Given the description of an element on the screen output the (x, y) to click on. 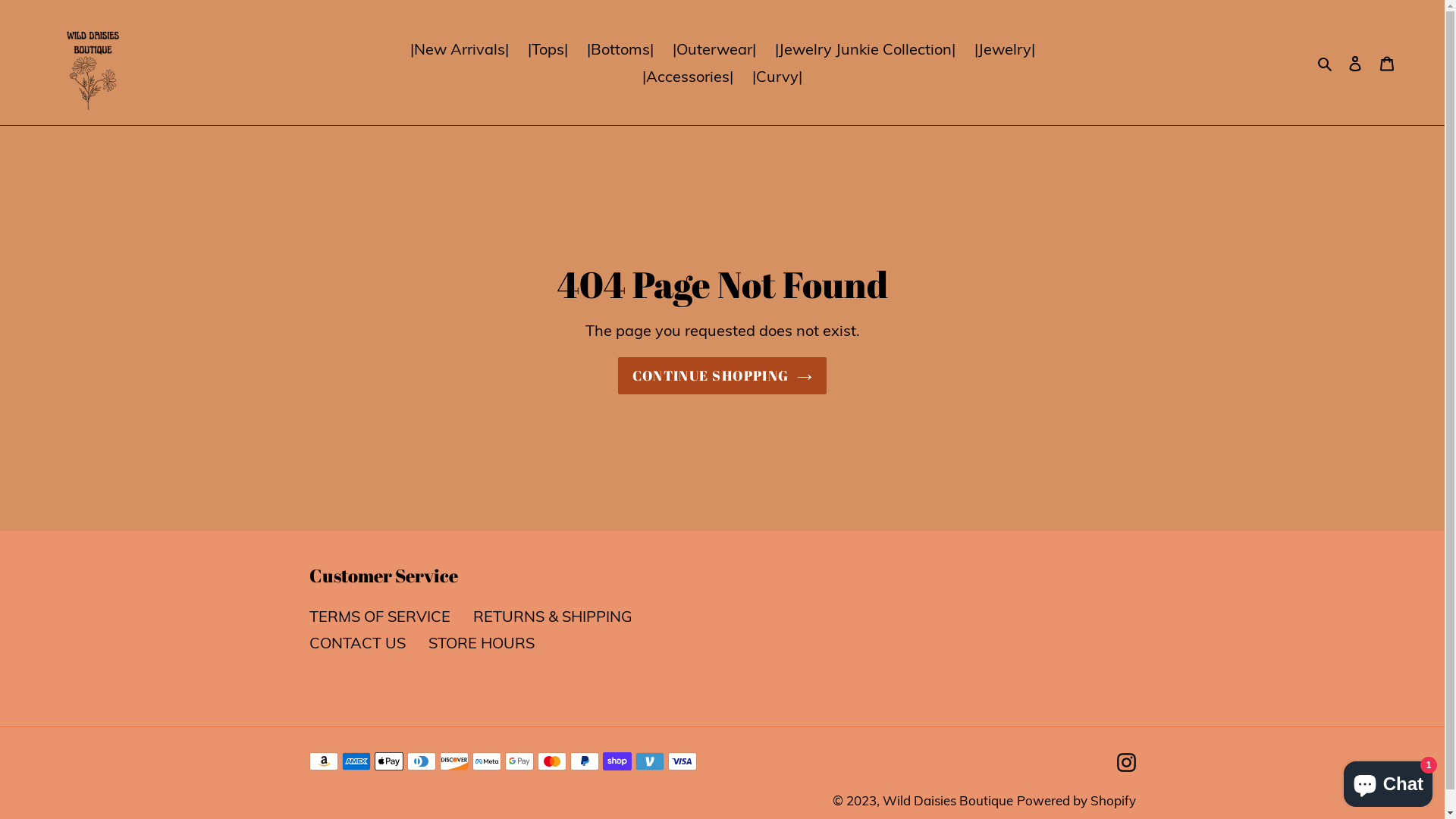
|Jewelry| Element type: text (1003, 48)
Wild Daisies Boutique Element type: text (947, 800)
|Curvy| Element type: text (776, 75)
|Outerwear| Element type: text (713, 48)
|Tops| Element type: text (547, 48)
|New Arrivals| Element type: text (458, 48)
CONTINUE SHOPPING Element type: text (721, 375)
Instagram Element type: text (1125, 760)
Shopify online store chat Element type: hover (1388, 780)
Search Element type: text (1325, 62)
|Accessories| Element type: text (687, 75)
|Bottoms| Element type: text (620, 48)
TERMS OF SERVICE Element type: text (379, 615)
RETURNS & SHIPPING Element type: text (552, 615)
Log in Element type: text (1355, 62)
STORE HOURS Element type: text (480, 642)
CONTACT US Element type: text (357, 642)
|Jewelry Junkie Collection| Element type: text (865, 48)
Cart Element type: text (1386, 62)
Powered by Shopify Element type: text (1075, 800)
